Given the description of an element on the screen output the (x, y) to click on. 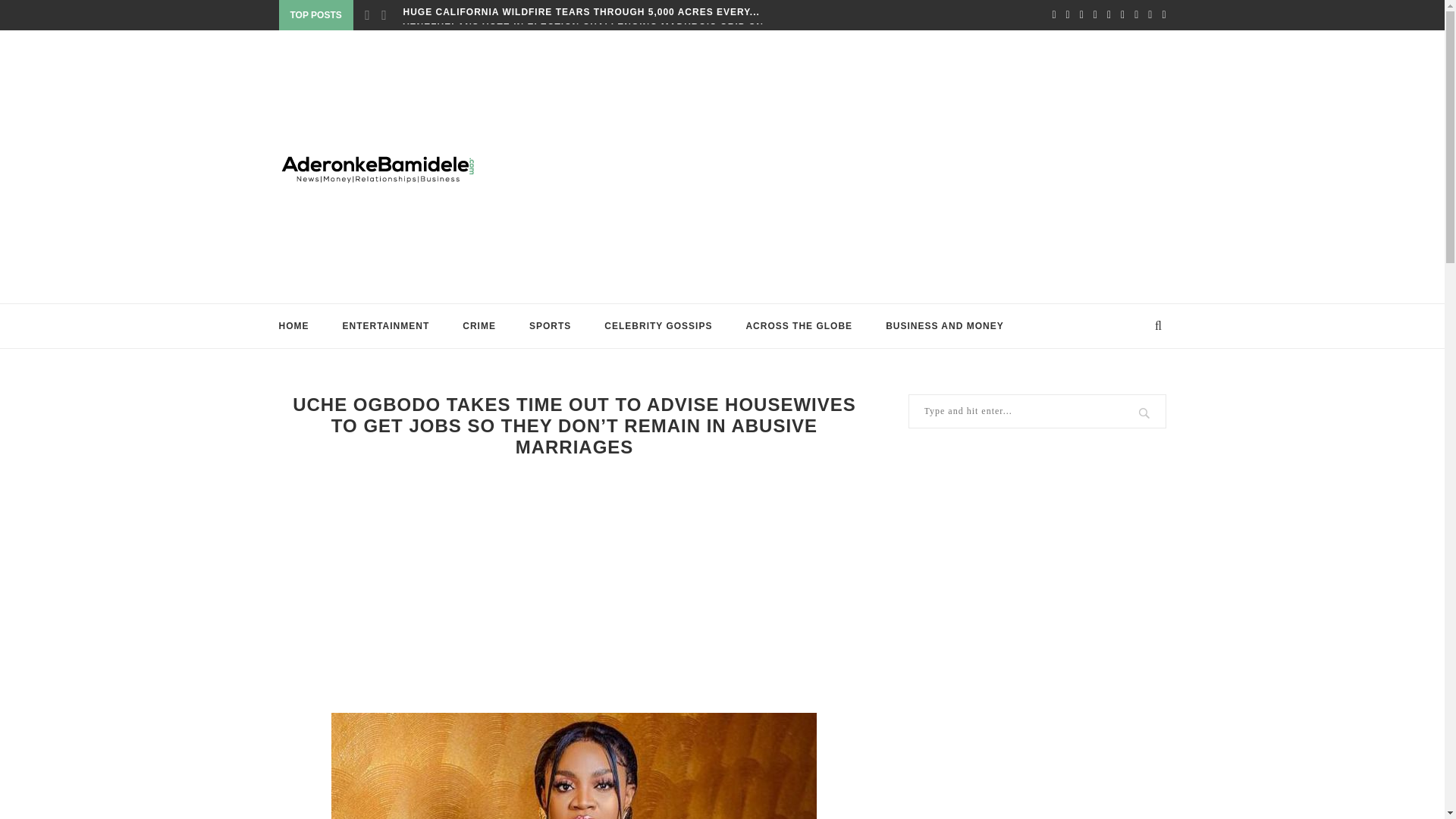
Advertisement (874, 166)
Advertisement (574, 583)
HUGE CALIFORNIA WILDFIRE TEARS THROUGH 5,000 ACRES EVERY... (581, 11)
